Given the description of an element on the screen output the (x, y) to click on. 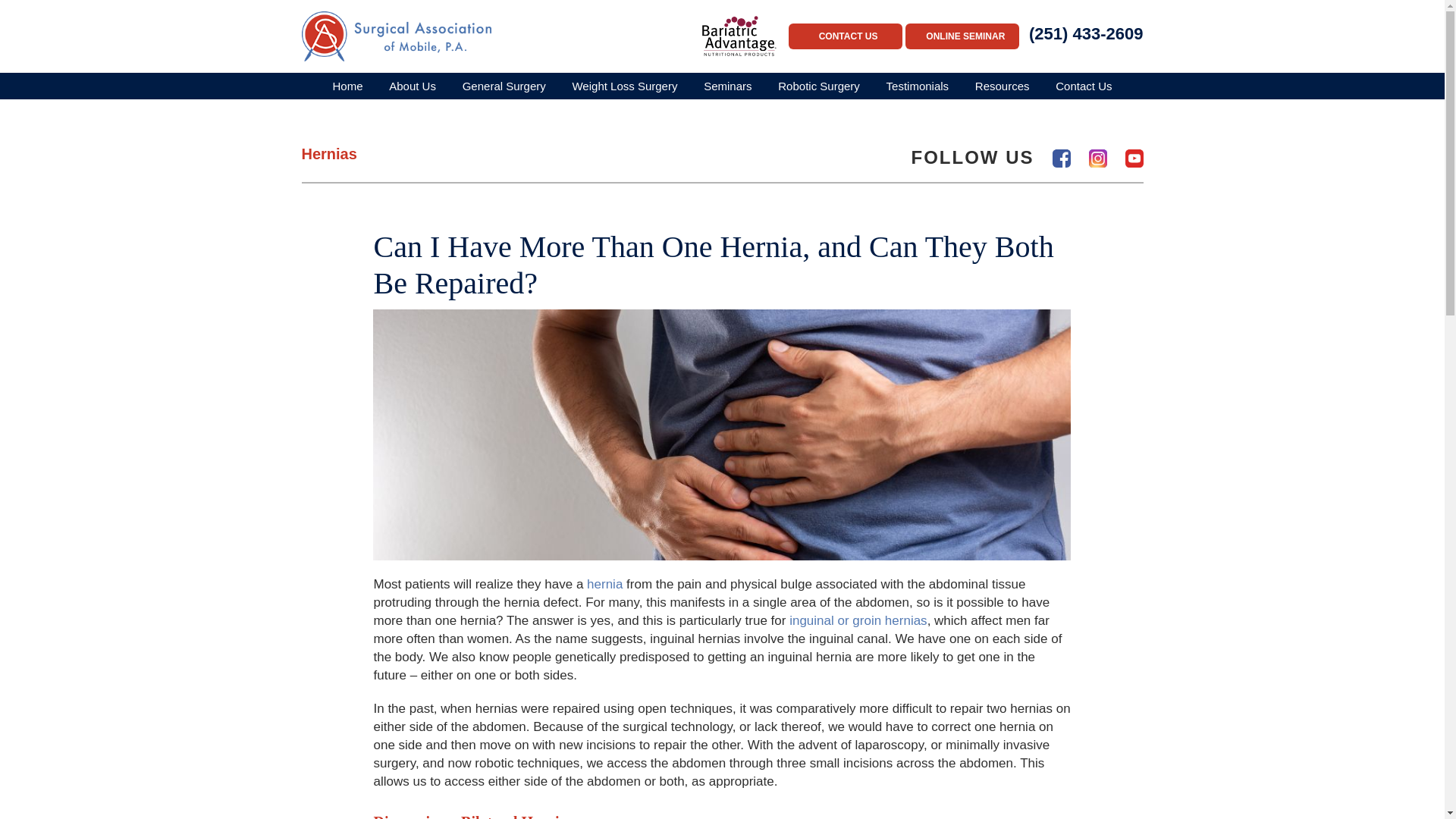
Surgical Association of Mobile, P.A. (396, 36)
